Given the description of an element on the screen output the (x, y) to click on. 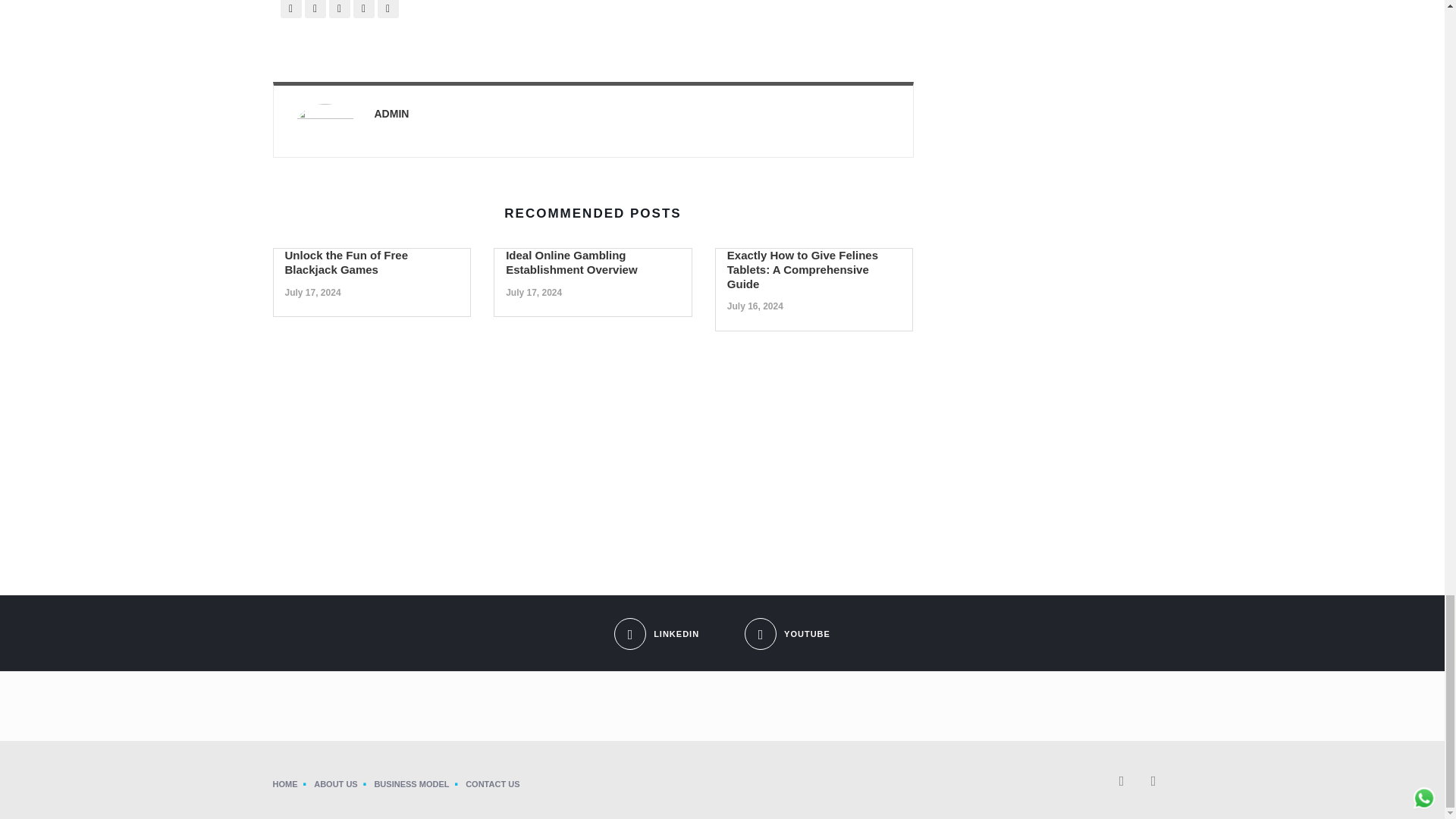
Ideal Online Gambling Establishment Overview (571, 262)
Exactly How to Give Felines Tablets: A Comprehensive Guide (801, 269)
LINKEDIN (656, 620)
Unlock the Fun of Free Blackjack Games (347, 262)
ADMIN (391, 113)
Posts by admin (391, 113)
